Given the description of an element on the screen output the (x, y) to click on. 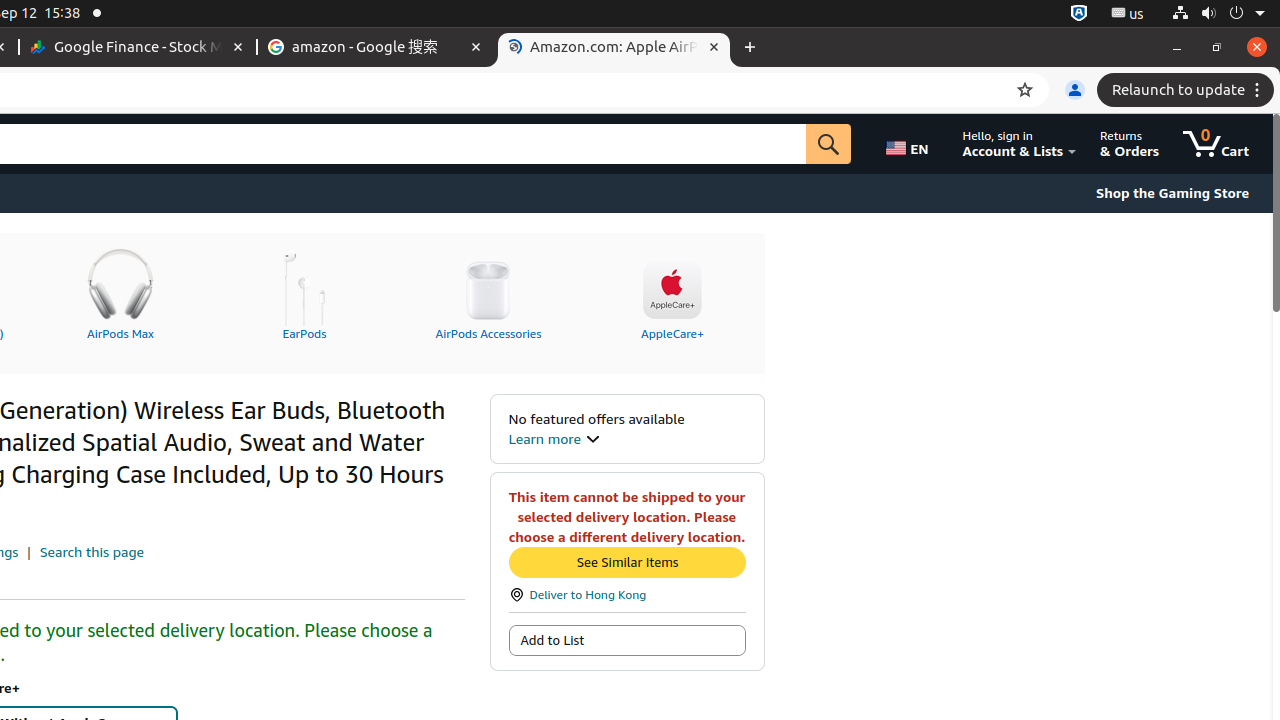
amazon - Google 搜索 - Memory usage - 86.9 MB Element type: page-tab (376, 47)
AirPods Accessories Element type: link (488, 291)
0 items in cart Element type: link (1216, 144)
Shop the Gaming Store Element type: link (1172, 193)
AppleCare+ Element type: link (672, 291)
